Given the description of an element on the screen output the (x, y) to click on. 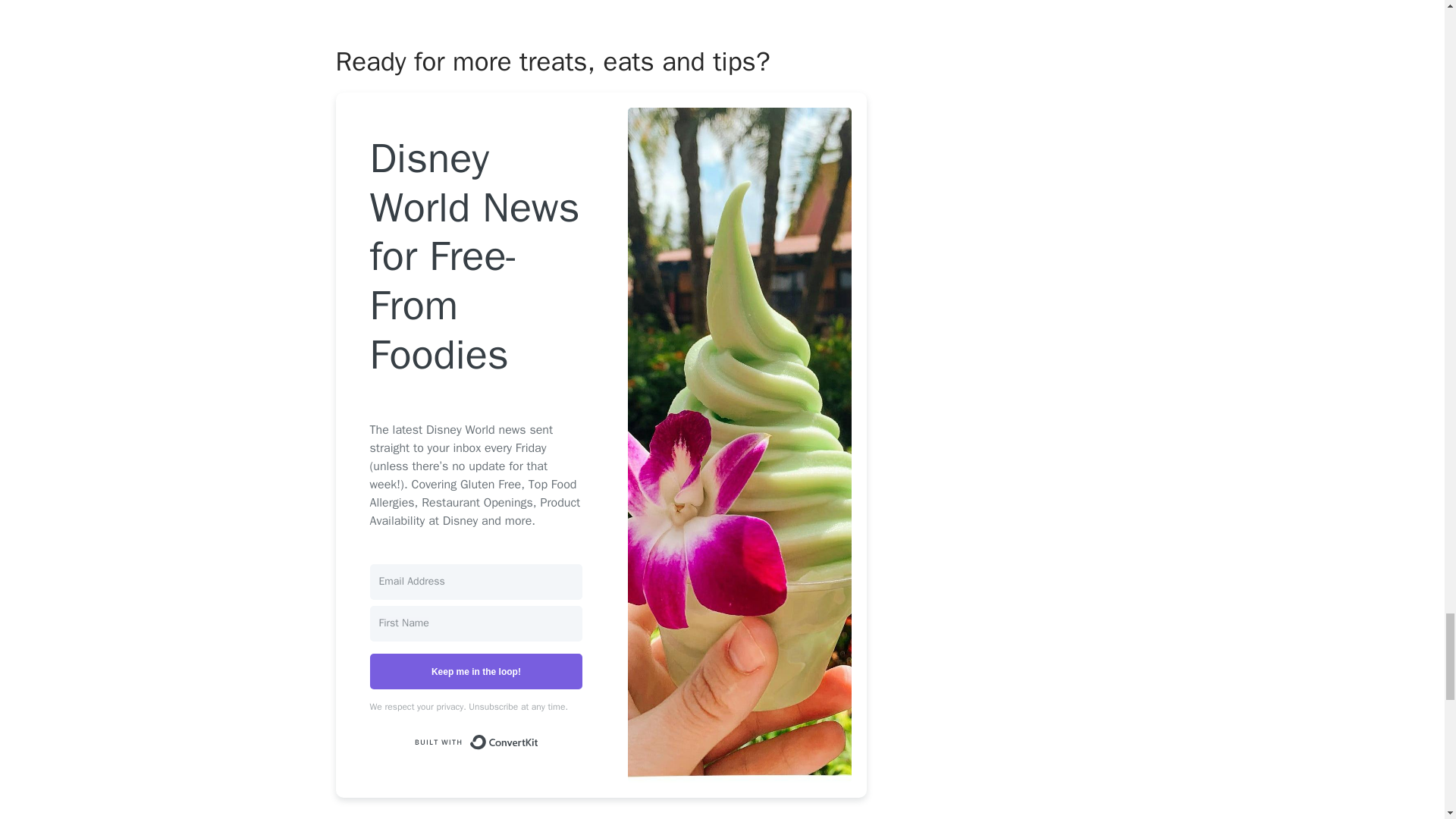
Built with ConvertKit (475, 741)
Keep me in the loop! (476, 671)
